Given the description of an element on the screen output the (x, y) to click on. 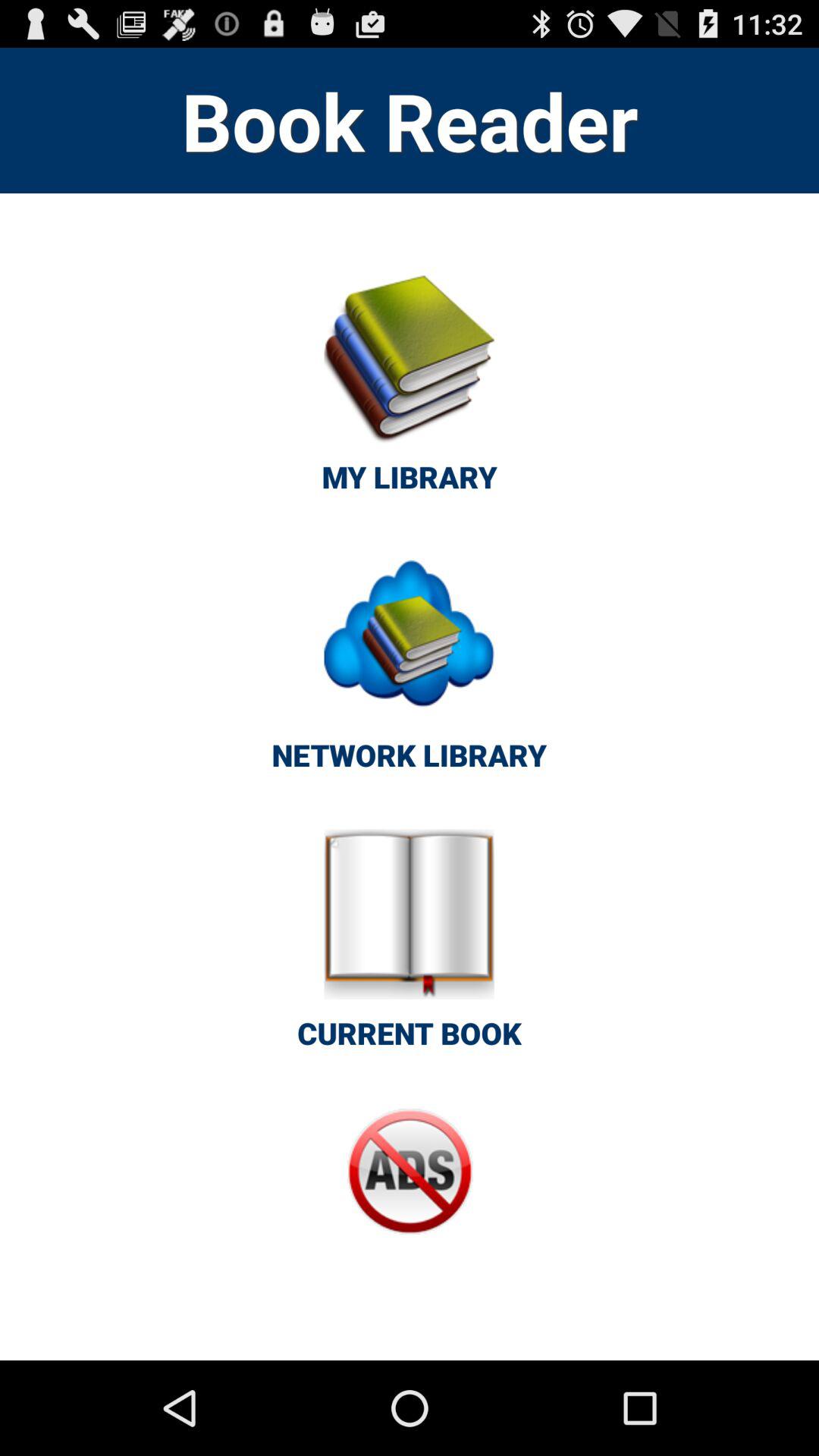
jump until current book (409, 948)
